Given the description of an element on the screen output the (x, y) to click on. 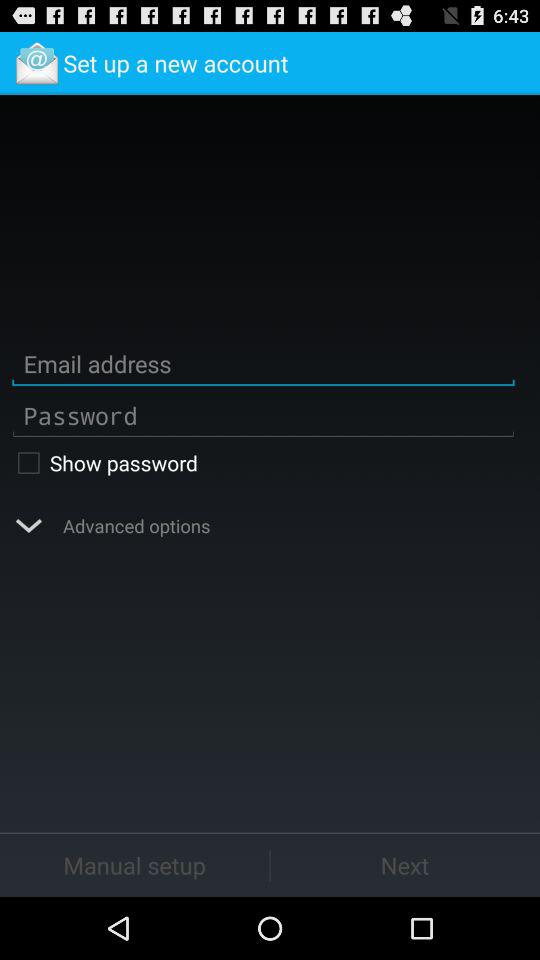
turn off the icon next to manual setup icon (405, 864)
